Given the description of an element on the screen output the (x, y) to click on. 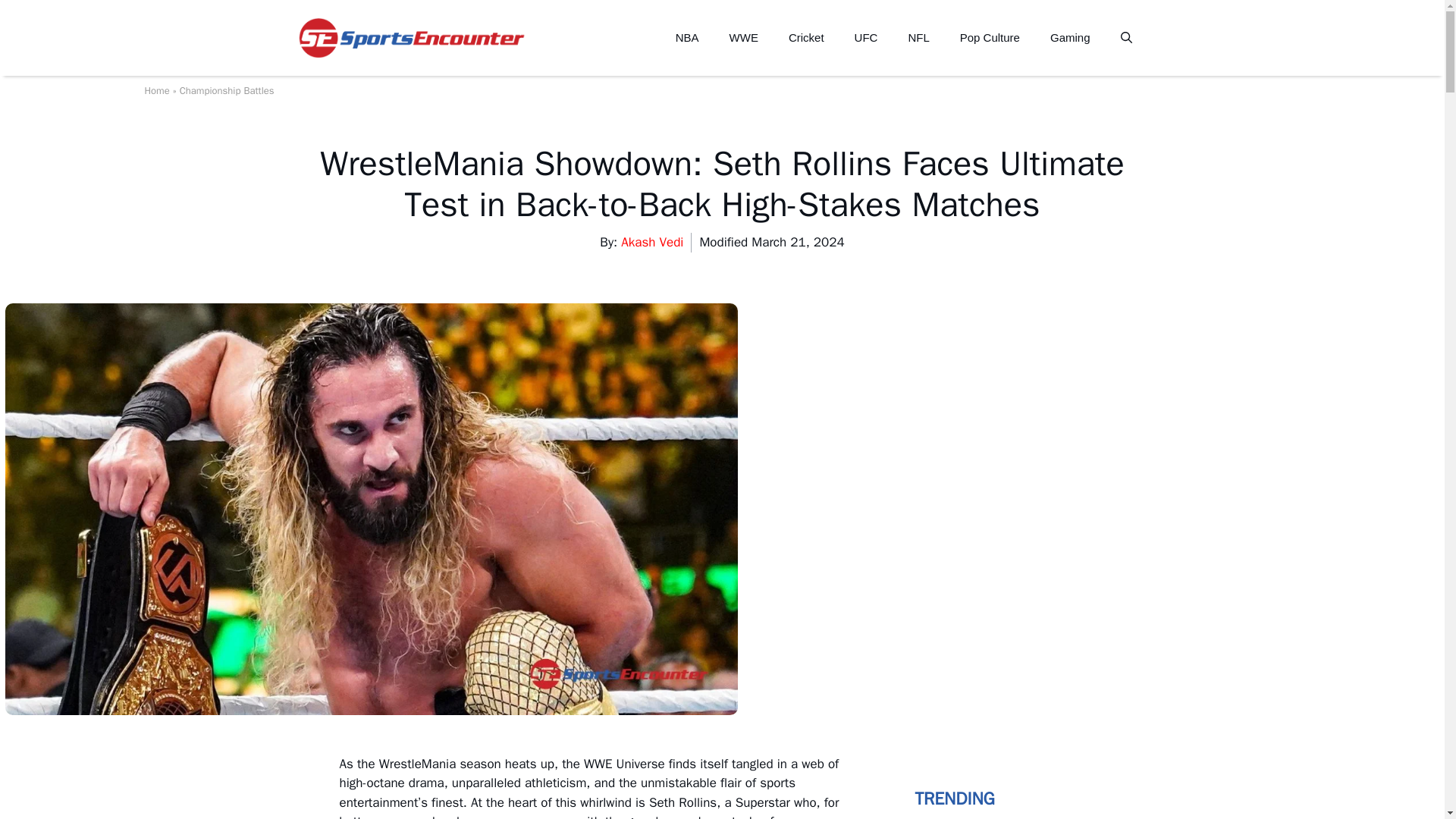
Home (156, 90)
Akash Vedi (651, 242)
NBA (687, 37)
Championship Battles (227, 90)
WWE (743, 37)
NFL (917, 37)
Pop Culture (989, 37)
UFC (866, 37)
Gaming (1070, 37)
Cricket (806, 37)
